Given the description of an element on the screen output the (x, y) to click on. 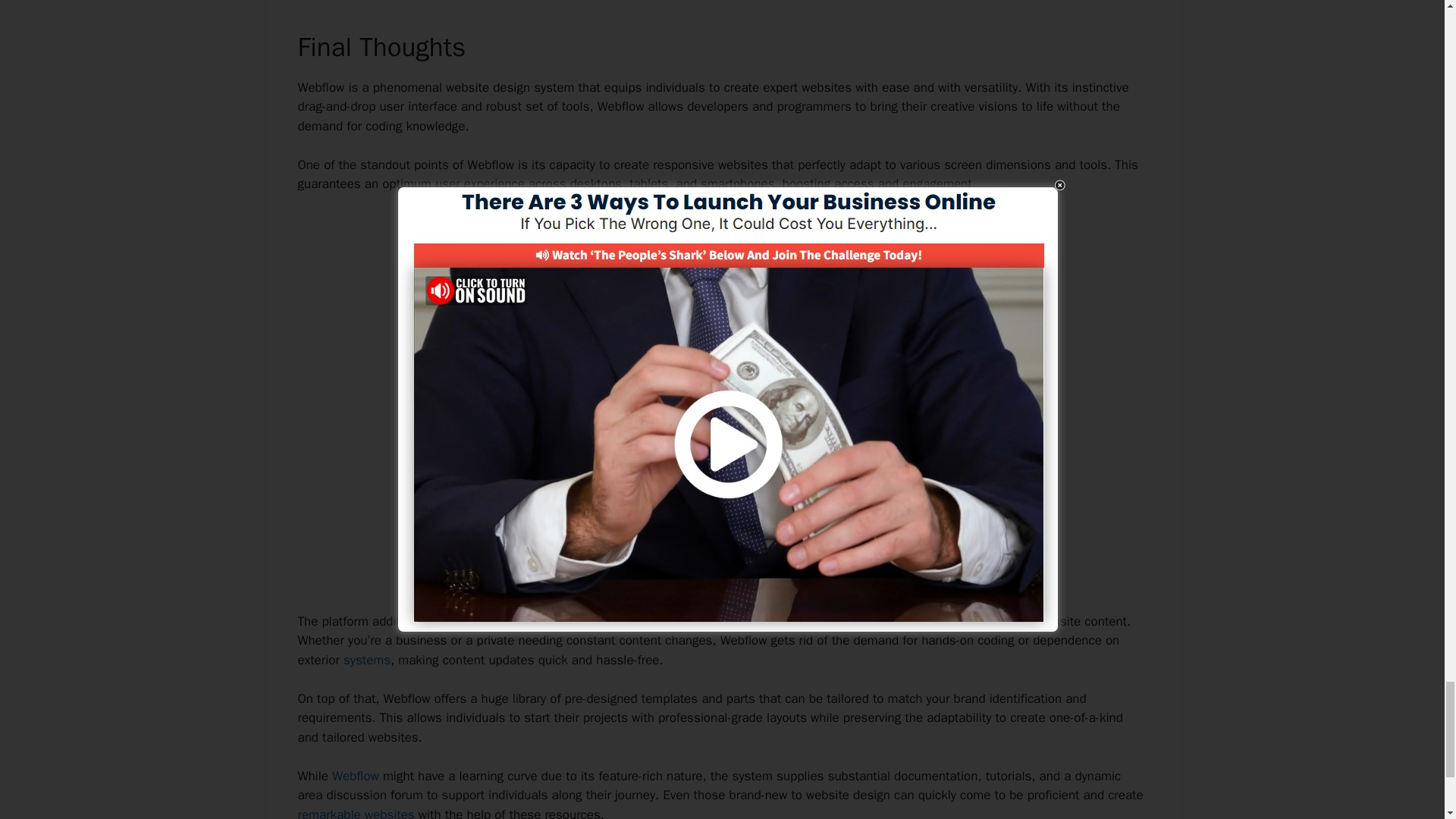
Webflow (354, 775)
systems (366, 659)
remarkable websites (355, 812)
